Given the description of an element on the screen output the (x, y) to click on. 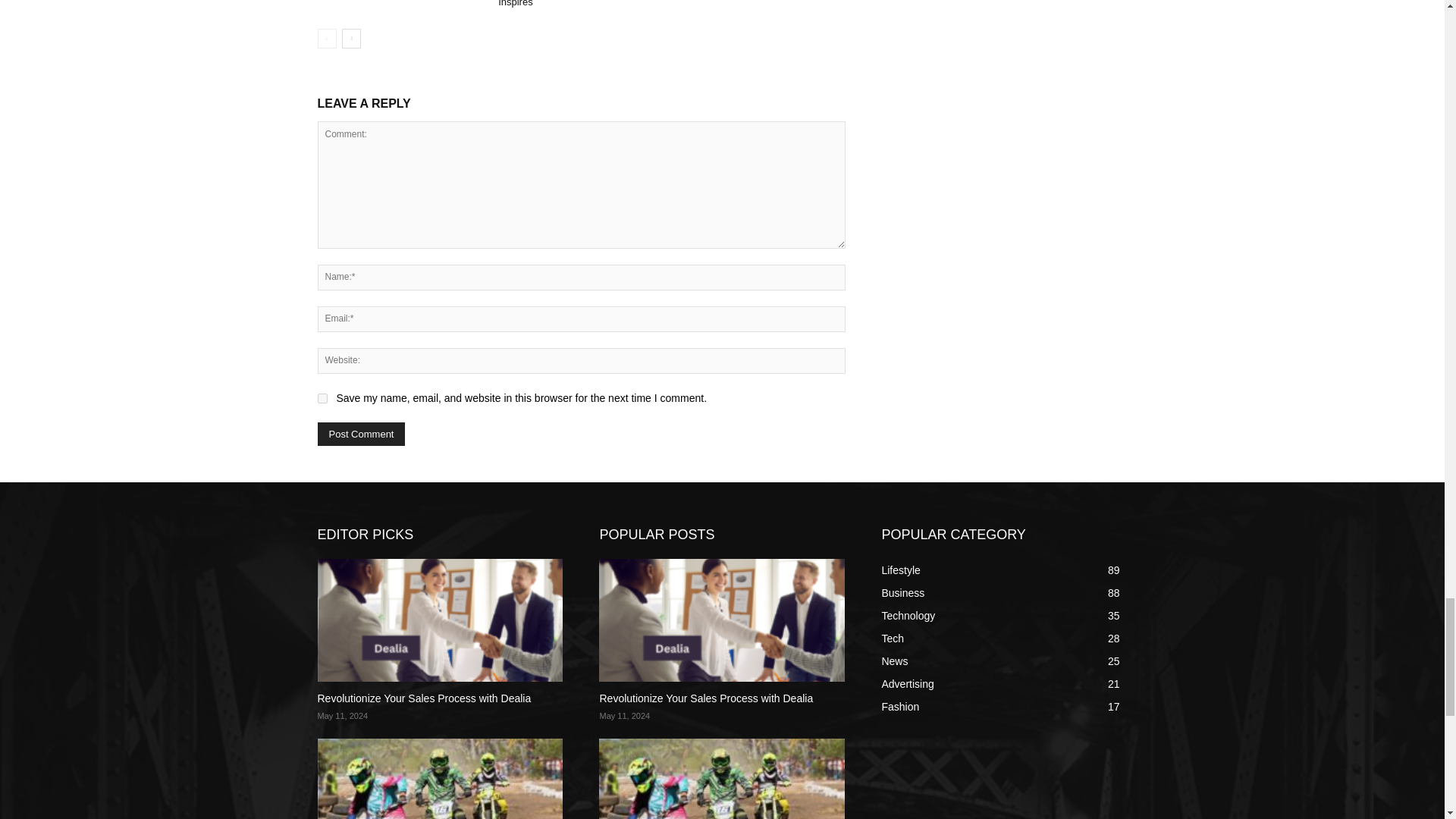
Post Comment (360, 433)
yes (321, 398)
